Given the description of an element on the screen output the (x, y) to click on. 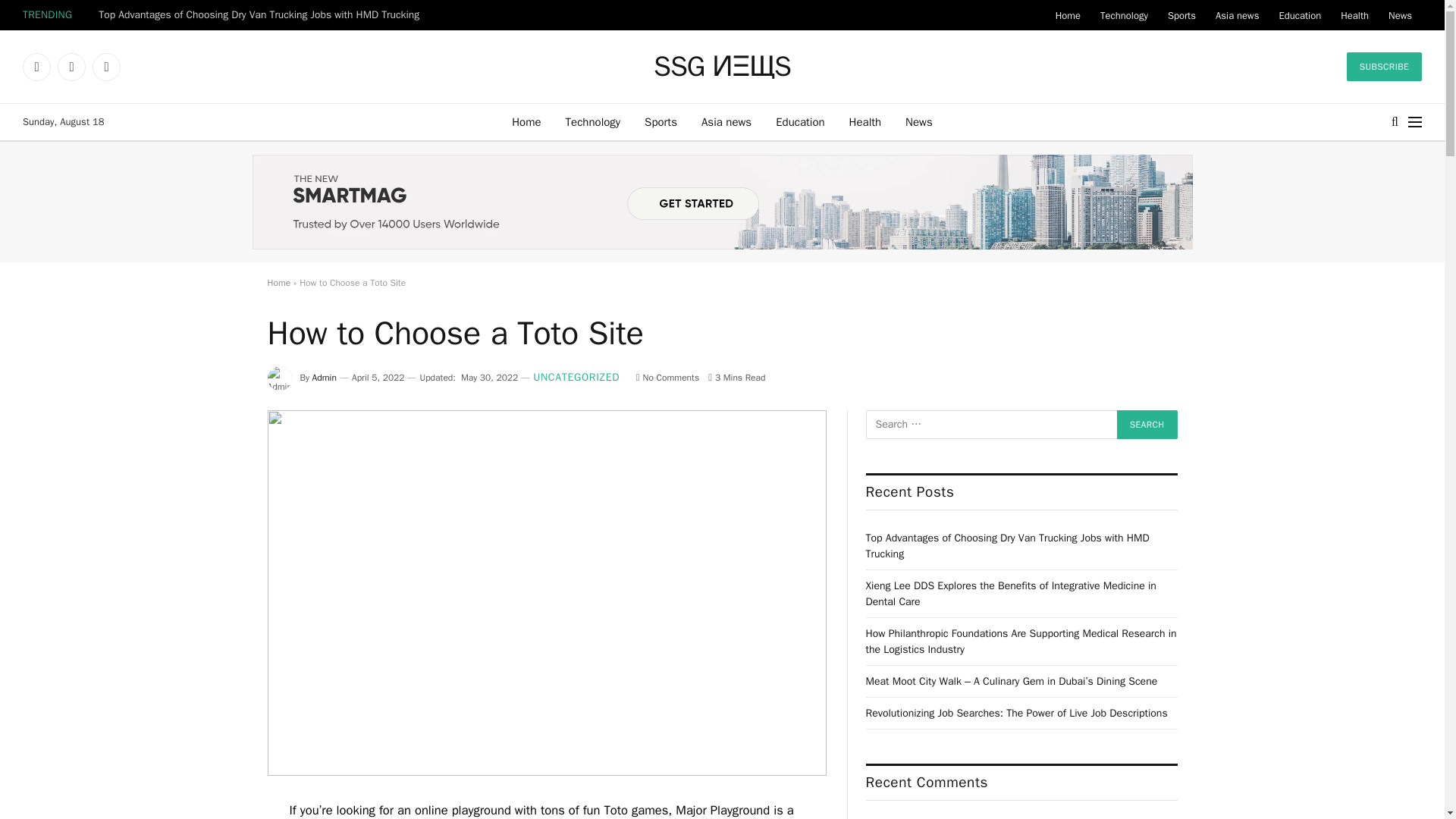
Asia news (725, 122)
Health (865, 122)
Posts by Admin (324, 377)
Sports (659, 122)
Instagram (106, 67)
Technology (593, 122)
Technology (1123, 15)
Facebook (36, 67)
SUBSCRIBE (1384, 66)
Home (1067, 15)
